Given the description of an element on the screen output the (x, y) to click on. 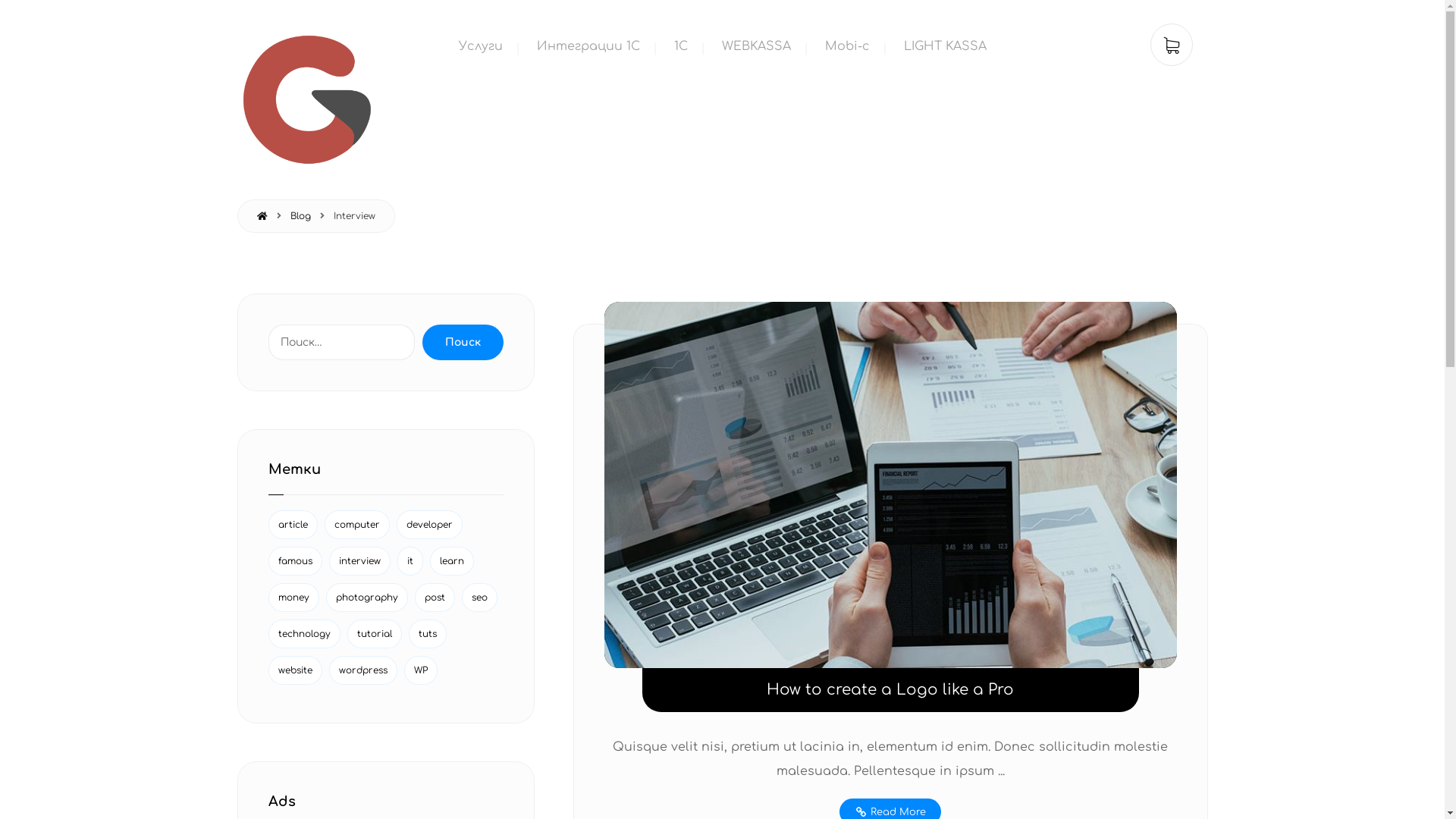
Home page Element type: hover (261, 215)
WP Element type: text (419, 669)
tutorial Element type: text (374, 633)
post Element type: text (434, 597)
website Element type: text (295, 669)
Mobi-c Element type: text (847, 47)
interview Element type: text (359, 560)
wordpress Element type: text (363, 669)
tuts Element type: text (426, 633)
1C Element type: text (680, 47)
Interview Element type: text (354, 215)
How to create a Logo like a Pro Element type: text (890, 690)
WEBKASSA Element type: text (755, 47)
money Element type: text (293, 597)
technology Element type: text (304, 633)
famous Element type: text (295, 560)
it Element type: text (410, 560)
photography Element type: text (366, 597)
learn Element type: text (451, 560)
seo Element type: text (478, 597)
LIGHT KASSA Element type: text (944, 47)
article Element type: text (292, 524)
Blog Element type: text (299, 215)
developer Element type: text (428, 524)
computer Element type: text (356, 524)
